Given the description of an element on the screen output the (x, y) to click on. 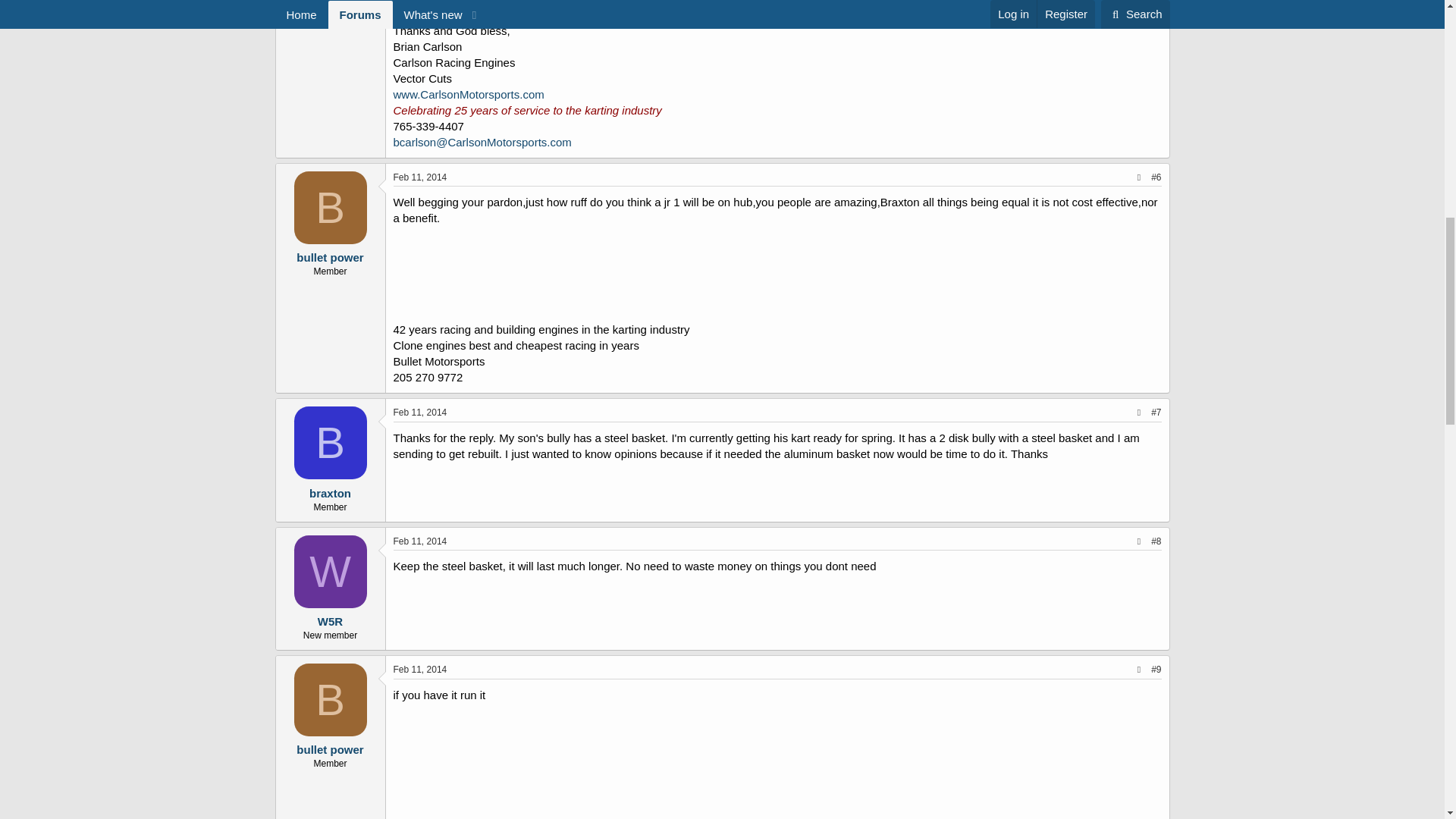
Feb 11, 2014 at 4:58 PM (419, 412)
Feb 11, 2014 at 5:09 PM (419, 541)
Feb 11, 2014 at 5:13 PM (419, 669)
Feb 11, 2014 at 4:52 PM (419, 176)
